Given the description of an element on the screen output the (x, y) to click on. 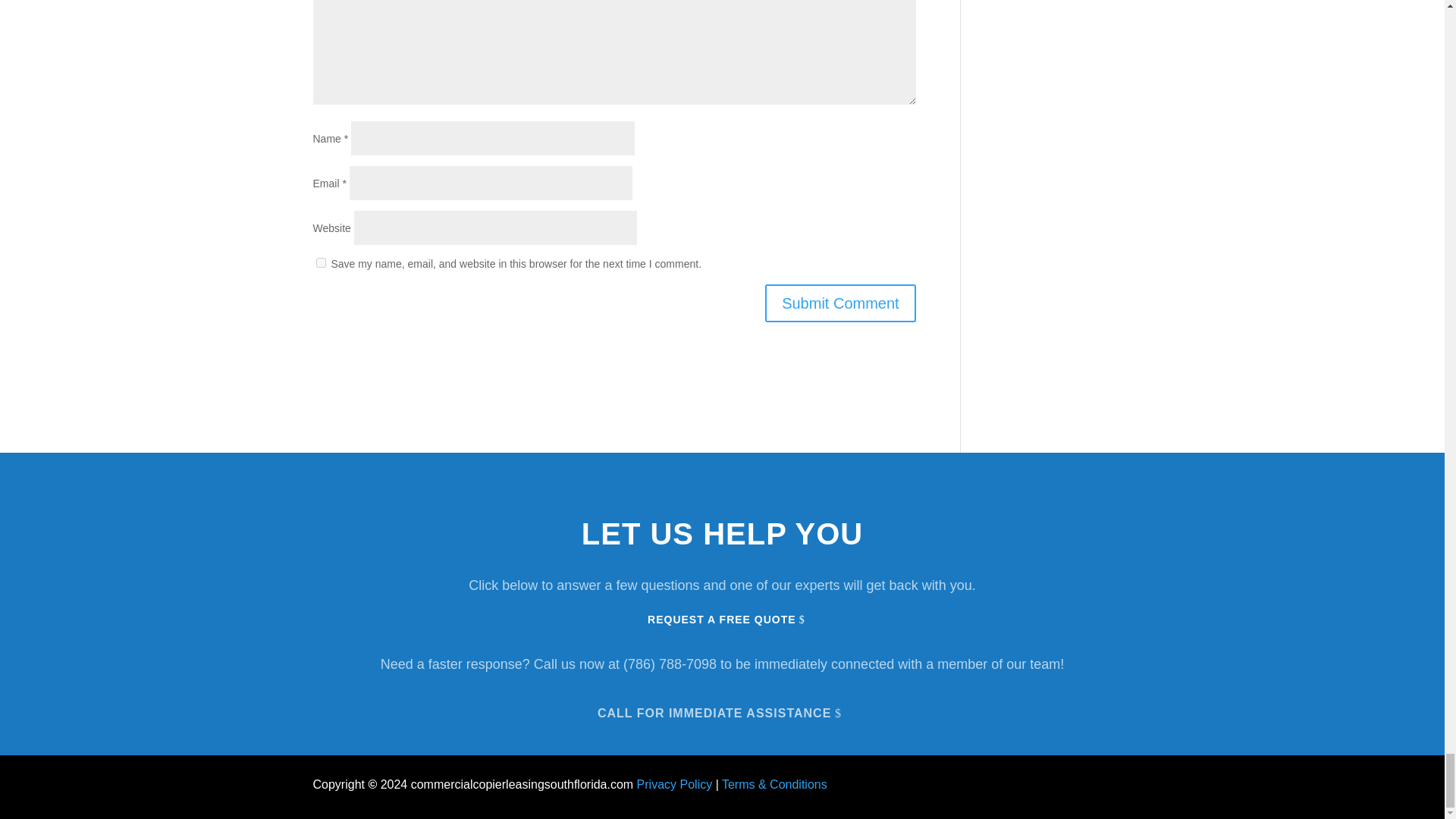
CALL FOR IMMEDIATE ASSISTANCE (721, 711)
Submit Comment (840, 303)
Privacy Policy (675, 784)
REQUEST A FREE QUOTE (721, 619)
Submit Comment (840, 303)
yes (319, 262)
